Given the description of an element on the screen output the (x, y) to click on. 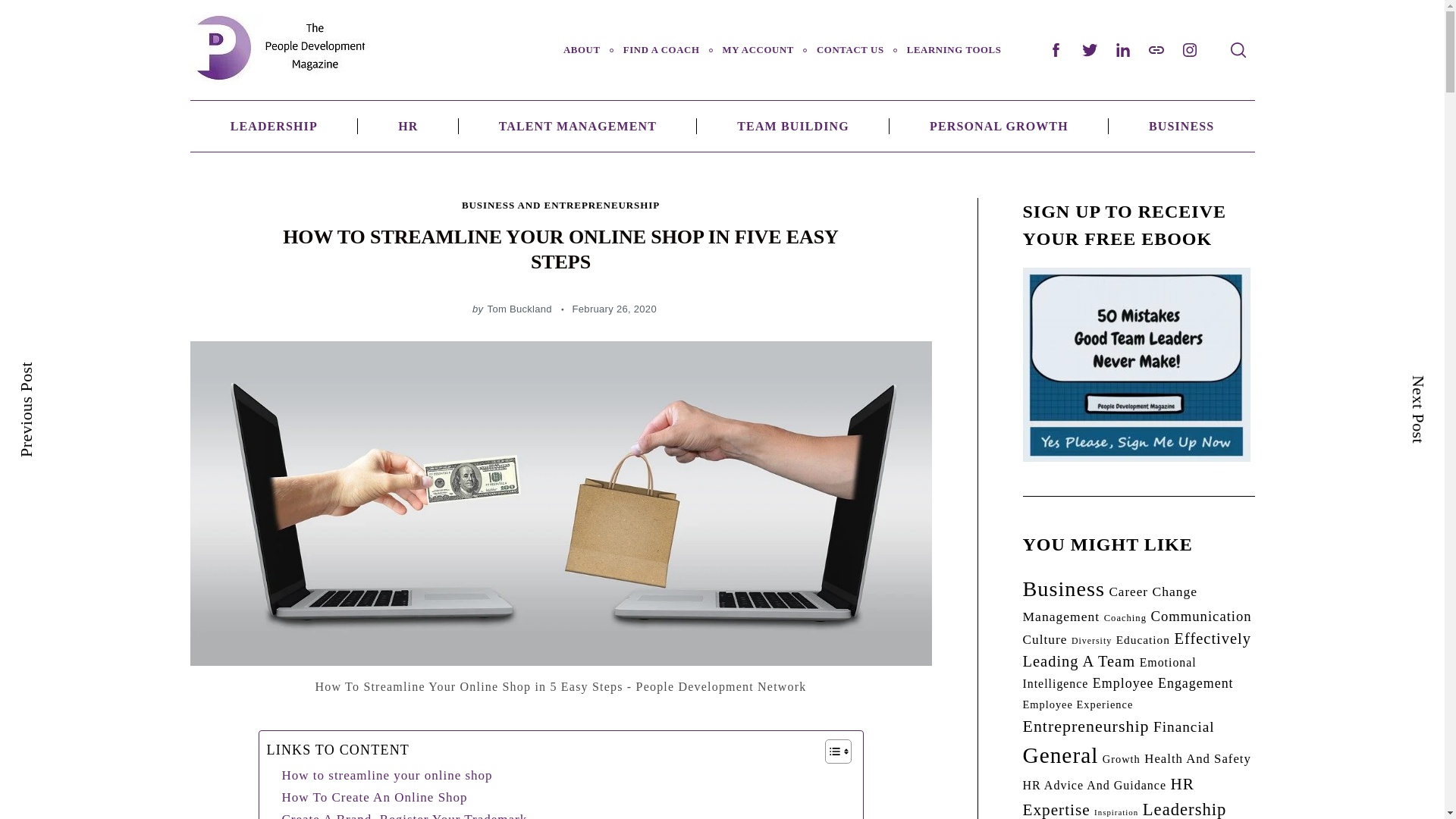
PINTEREST (1155, 49)
Tom Buckland (519, 308)
ABOUT (581, 50)
MY ACCOUNT (758, 50)
FIND A COACH (661, 50)
How To Create An Online Shop (374, 797)
PERSONAL GROWTH (998, 125)
TWITTER (1088, 49)
LEADERSHIP (273, 125)
Create A Brand, Register Your Trademark (404, 814)
How to streamline your online shop (387, 774)
BUSINESS AND ENTREPRENEURSHIP (560, 205)
TALENT MANAGEMENT (577, 125)
LEARNING TOOLS (954, 50)
HR (408, 125)
